Given the description of an element on the screen output the (x, y) to click on. 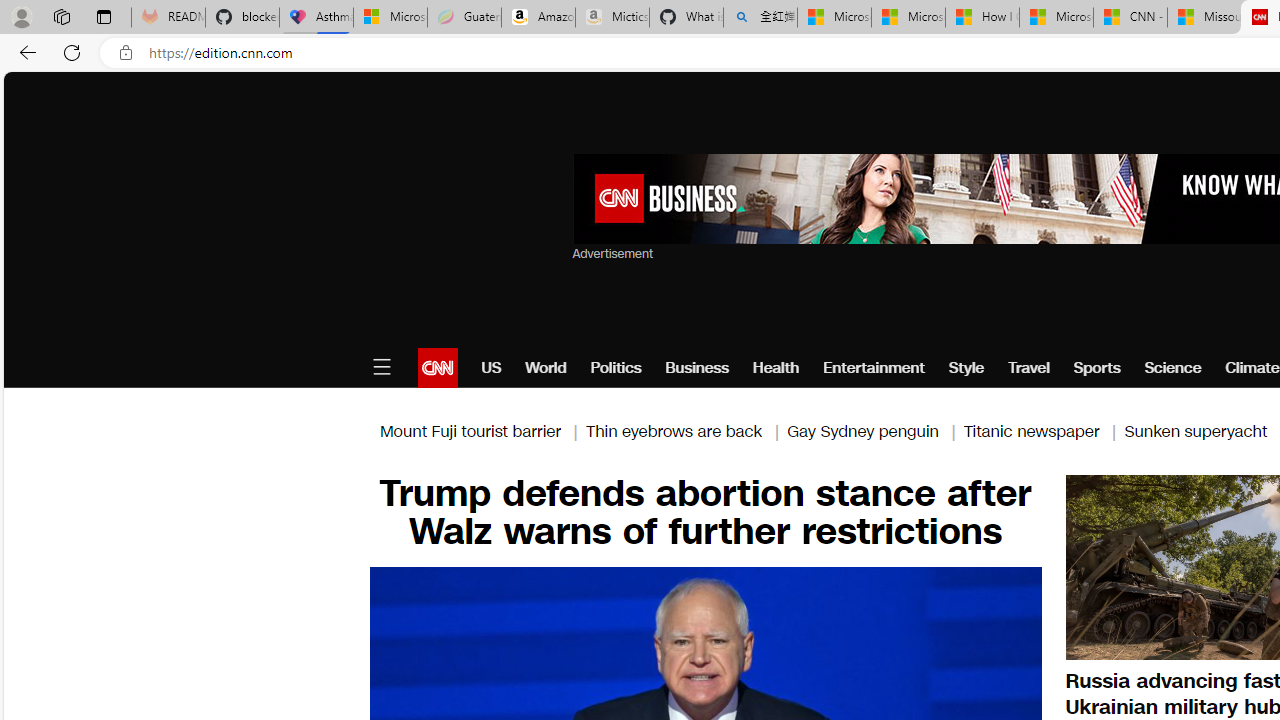
How I Got Rid of Microsoft Edge's Unnecessary Features (981, 17)
Travel (1028, 367)
Thin eyebrows are back | (686, 430)
